Given the description of an element on the screen output the (x, y) to click on. 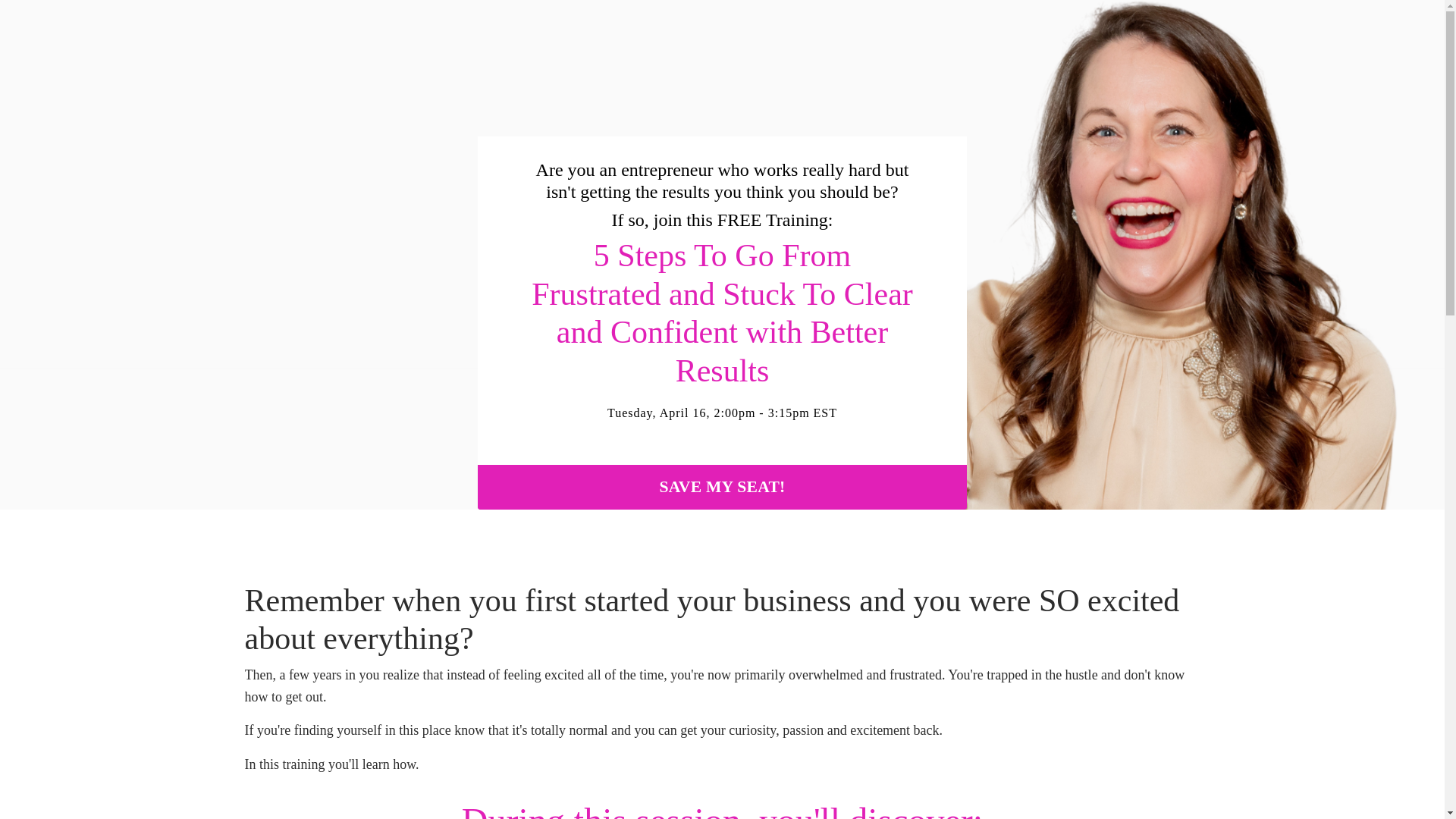
SAVE MY SEAT! (721, 486)
